Given the description of an element on the screen output the (x, y) to click on. 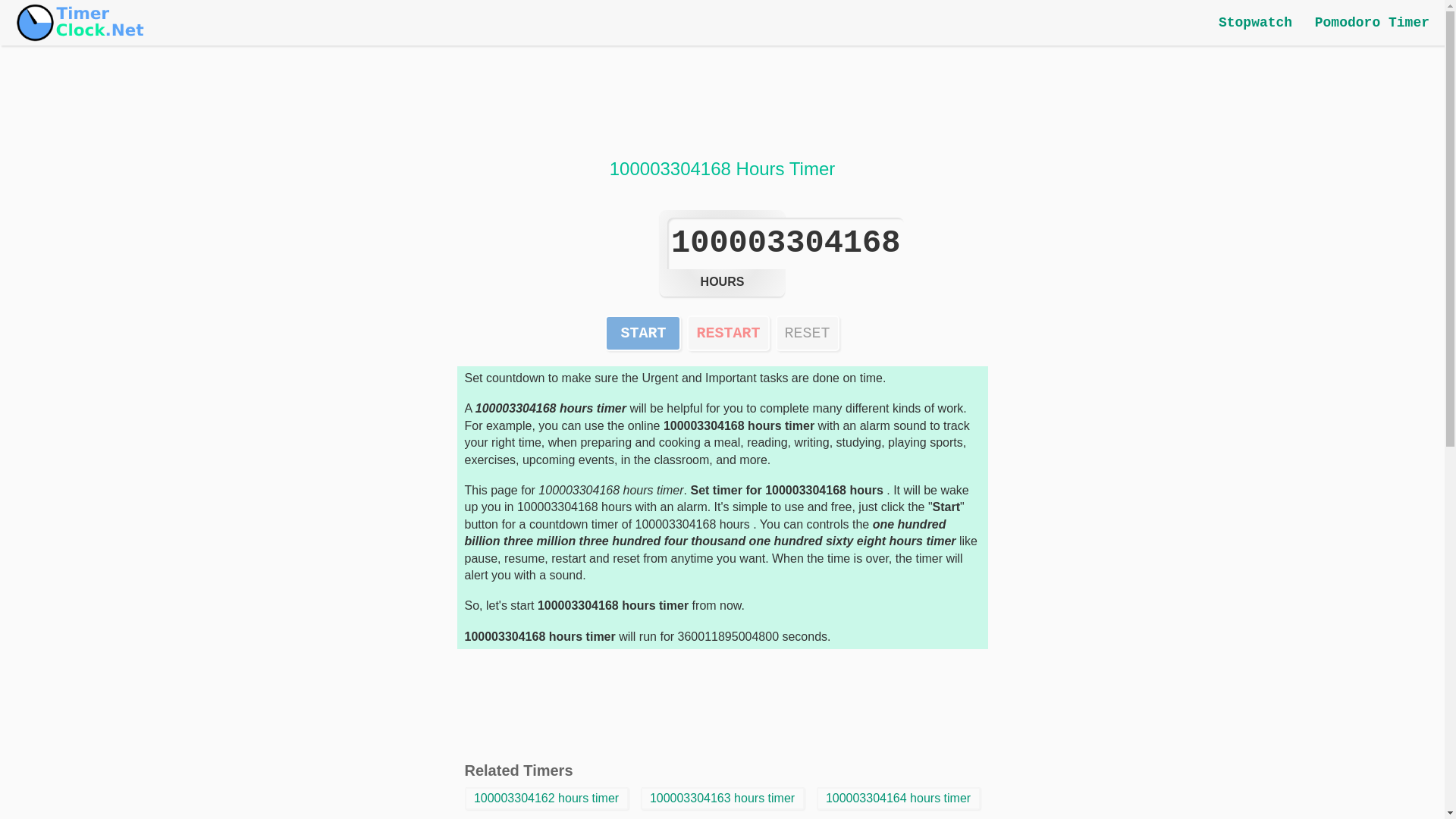
100003304162 hours timer (545, 798)
100003304163 hours timer (721, 798)
RESTART (727, 333)
100003304164 hours timer (897, 798)
Stopwatch (1255, 22)
Advertisement (1300, 268)
START (643, 333)
Advertisement (721, 106)
Advertisement (721, 702)
Advertisement (144, 268)
